Given the description of an element on the screen output the (x, y) to click on. 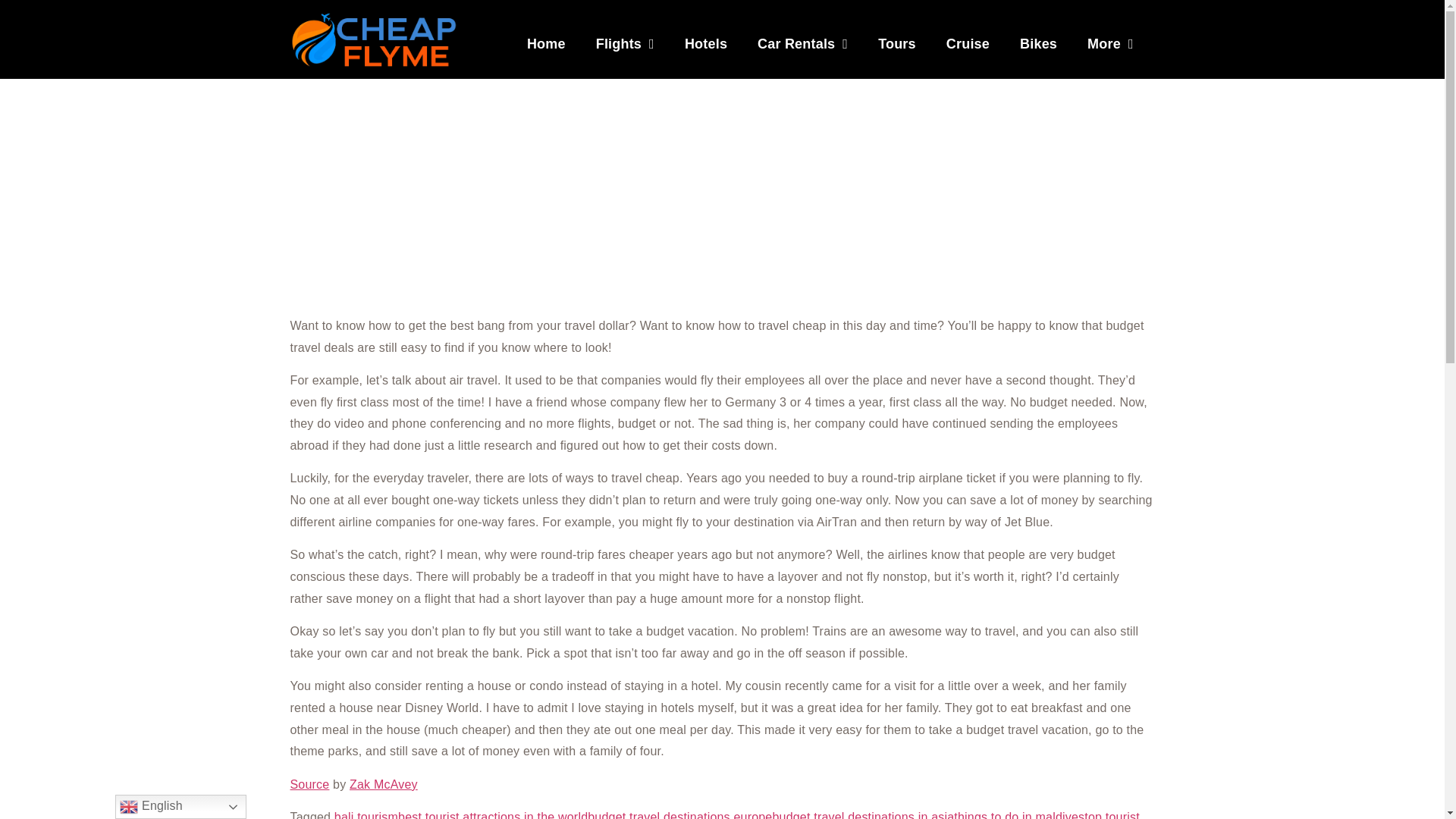
Home (546, 43)
budget travel destinations europe (679, 814)
Car Rentals (802, 43)
Source (309, 784)
Cruise (967, 43)
best tourist attractions in the world (492, 814)
budget travel destinations in asia (862, 814)
Tours (897, 43)
Zak McAvey (383, 784)
Flights (624, 43)
Hotels (705, 43)
bali tourism (365, 814)
Bikes (1037, 43)
things to do in maldives (1018, 814)
